Given the description of an element on the screen output the (x, y) to click on. 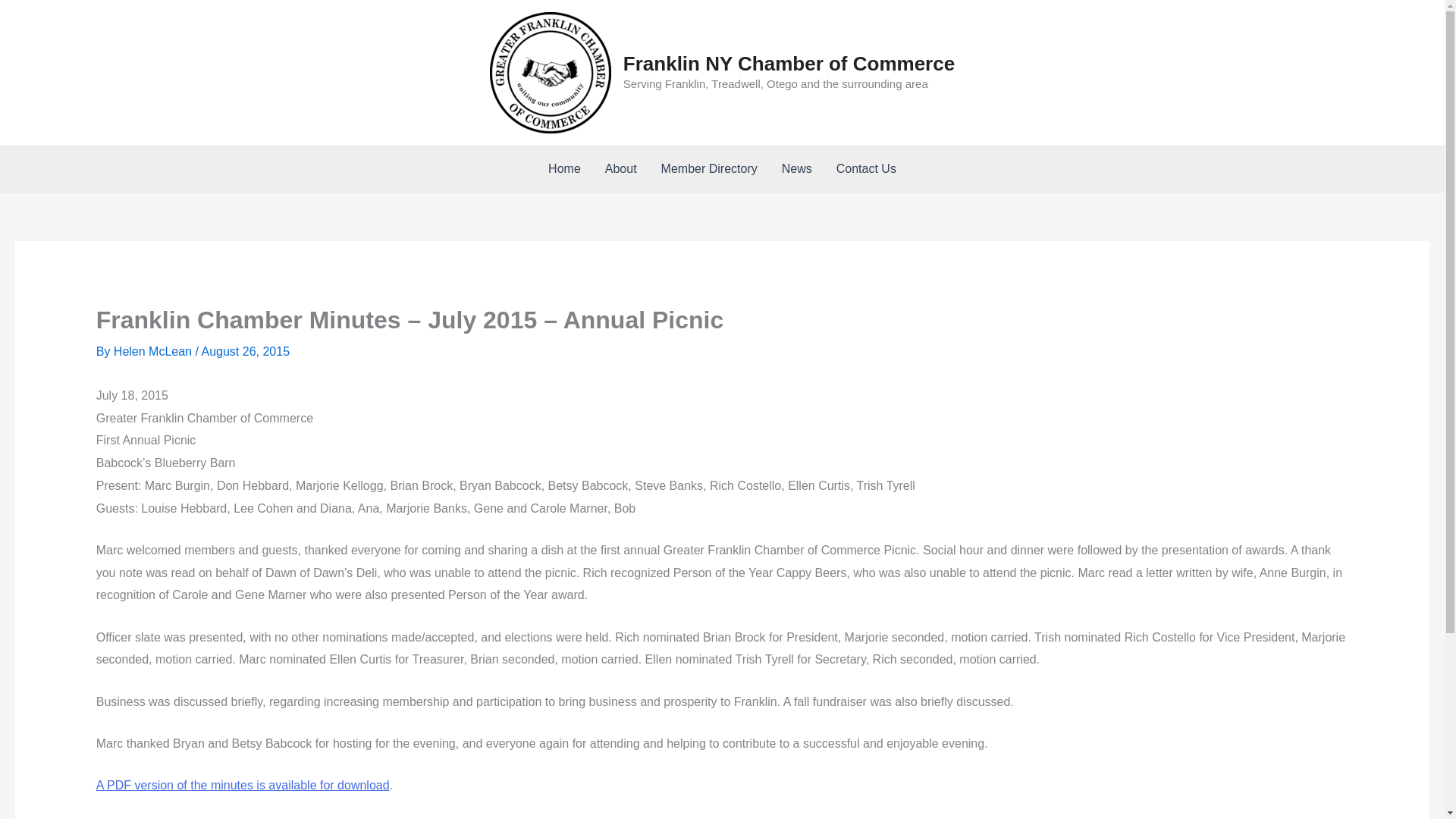
Franklin NY Chamber of Commerce (789, 63)
A PDF version of the minutes is available for download (243, 784)
Member Directory (709, 168)
Home (563, 168)
Contact Us (866, 168)
Helen McLean (154, 350)
View all posts by Helen McLean (154, 350)
News (797, 168)
About (620, 168)
